Given the description of an element on the screen output the (x, y) to click on. 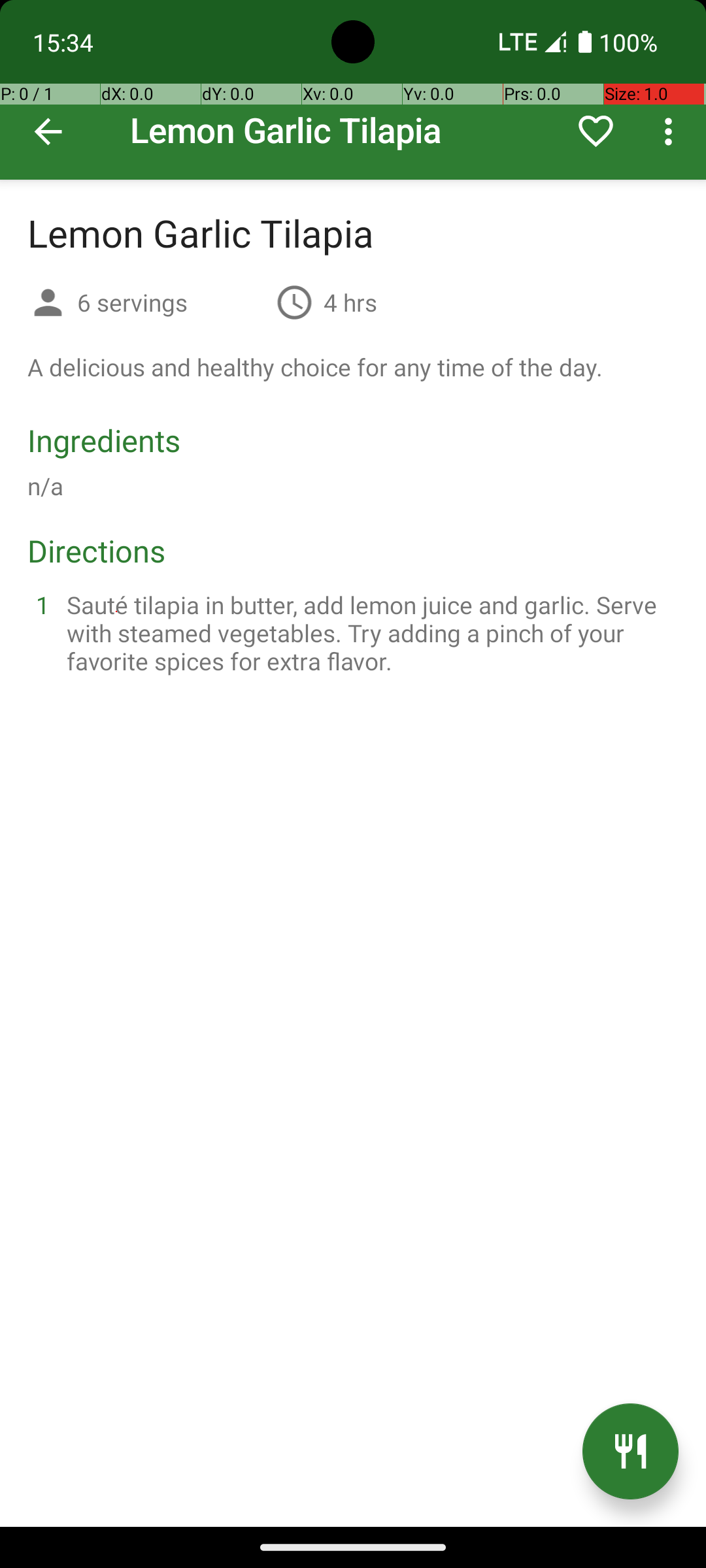
Sauté tilapia in butter, add lemon juice and garlic. Serve with steamed vegetables. Try adding a pinch of your favorite spices for extra flavor. Element type: android.widget.TextView (368, 632)
